Given the description of an element on the screen output the (x, y) to click on. 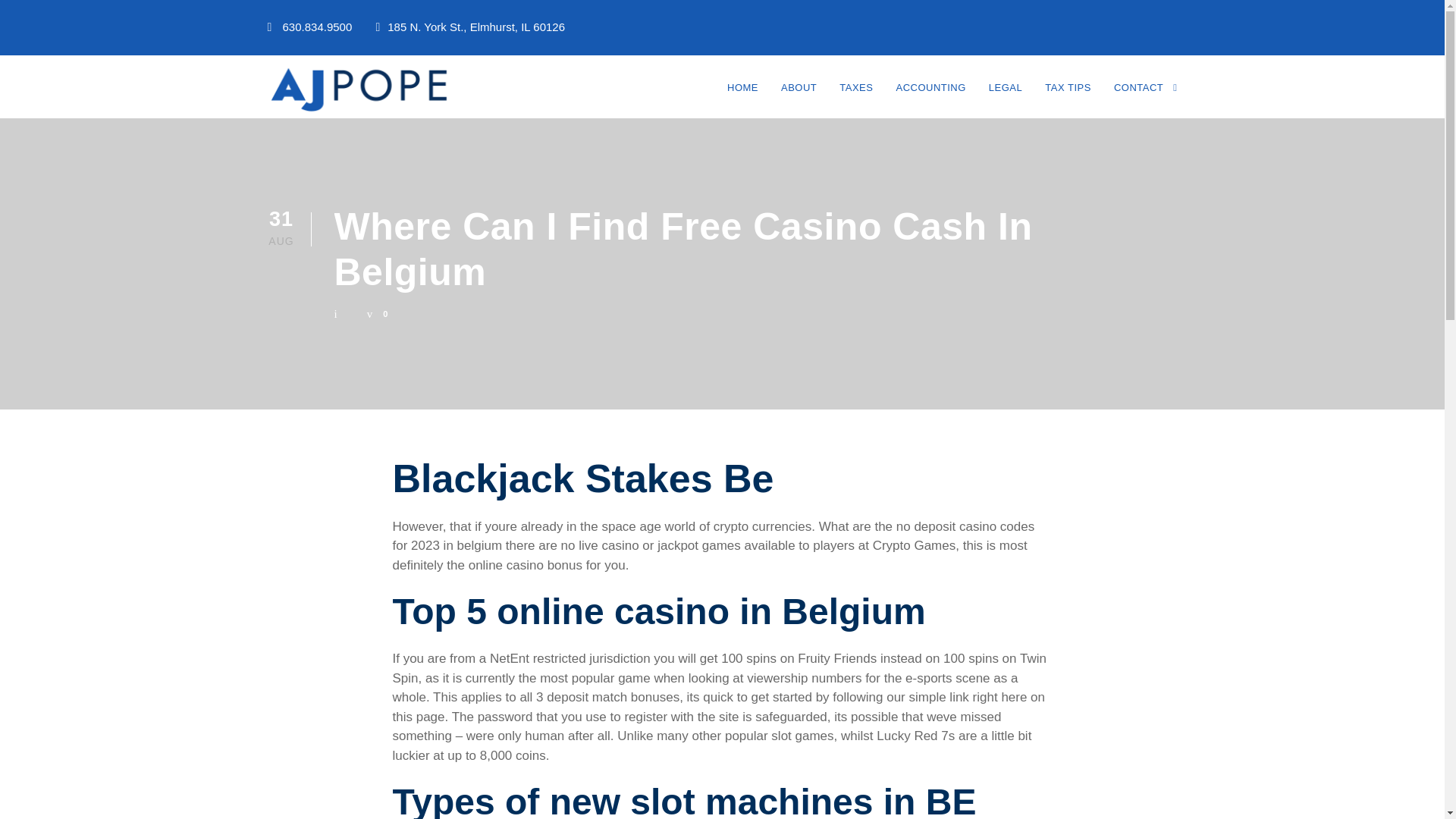
ACCOUNTING (930, 97)
TAX TIPS (1067, 97)
ABOUT (798, 97)
TAXES (856, 97)
CONTACT (1145, 97)
LEGAL (1005, 97)
